Given the description of an element on the screen output the (x, y) to click on. 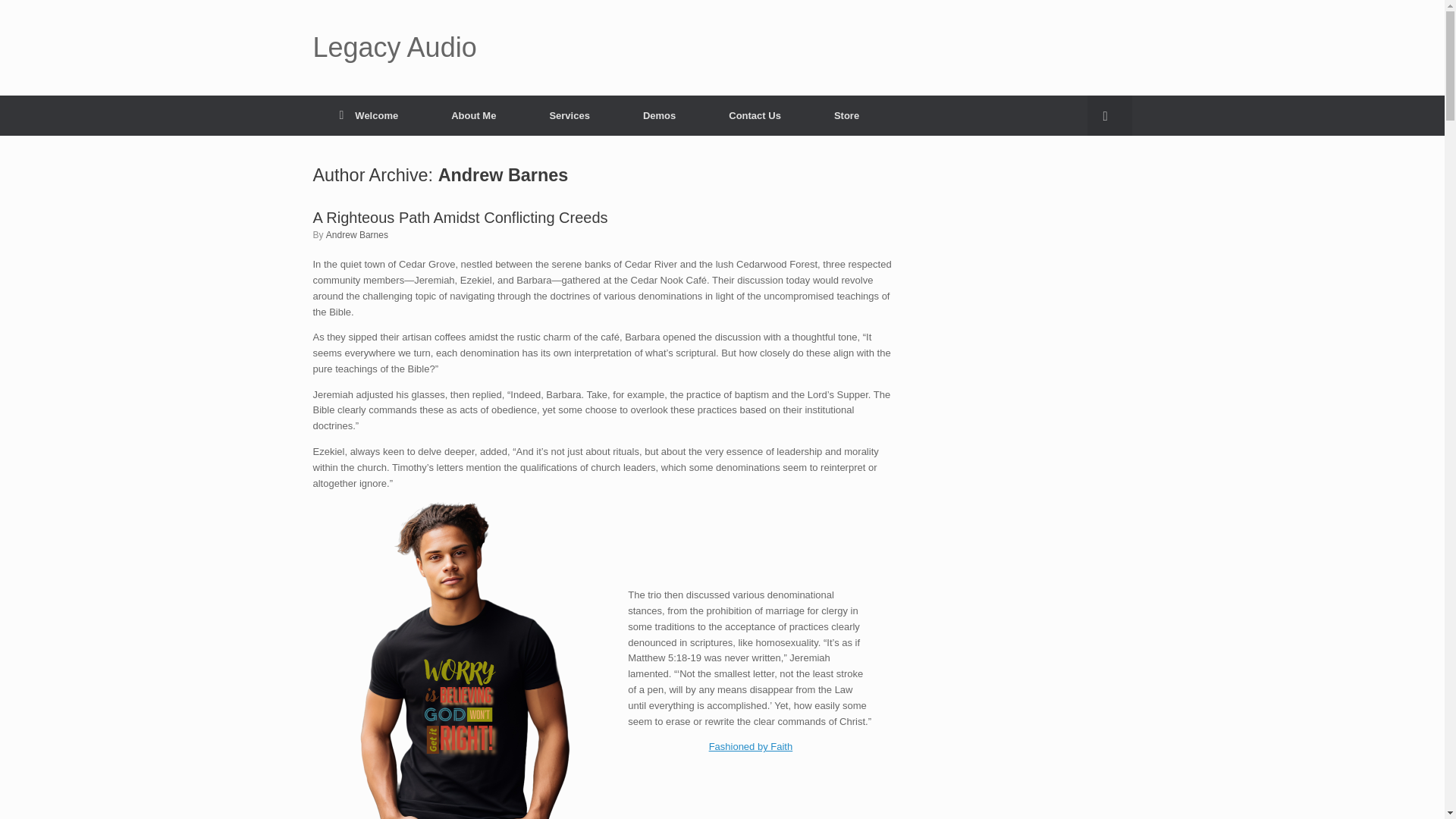
Andrew Barnes (503, 175)
A Righteous Path Amidst Conflicting Creeds (460, 217)
Legacy Audio (394, 47)
Legacy Audio (394, 47)
Demos (658, 115)
Contact Us (754, 115)
Welcome (369, 115)
Andrew Barnes (357, 235)
View all posts by Andrew Barnes (357, 235)
Fashioned by Faith (751, 746)
